Given the description of an element on the screen output the (x, y) to click on. 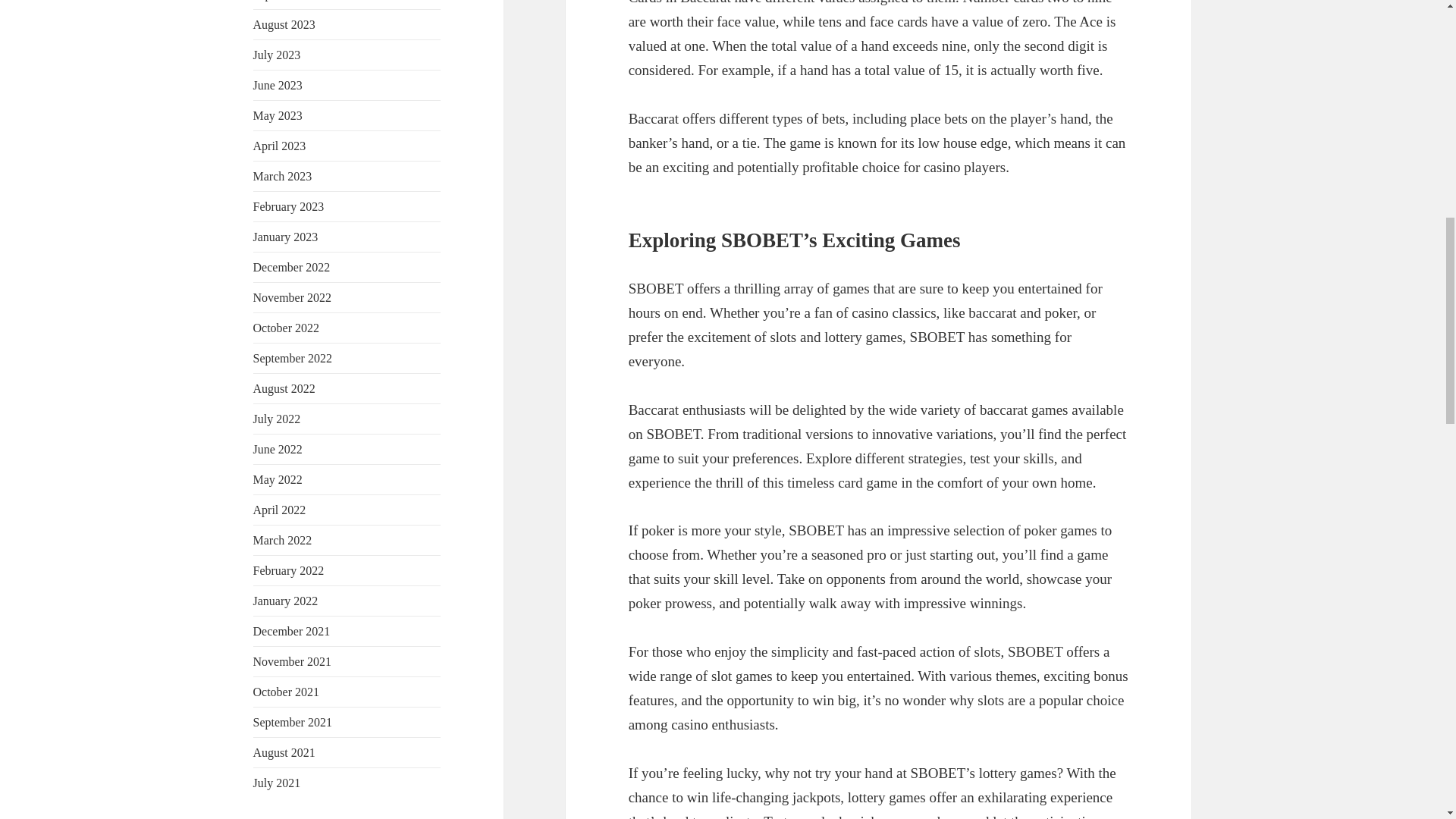
February 2022 (288, 570)
February 2023 (288, 205)
May 2022 (277, 479)
November 2022 (292, 297)
August 2023 (284, 24)
August 2022 (284, 388)
May 2023 (277, 115)
December 2021 (291, 631)
March 2022 (283, 540)
